Given the description of an element on the screen output the (x, y) to click on. 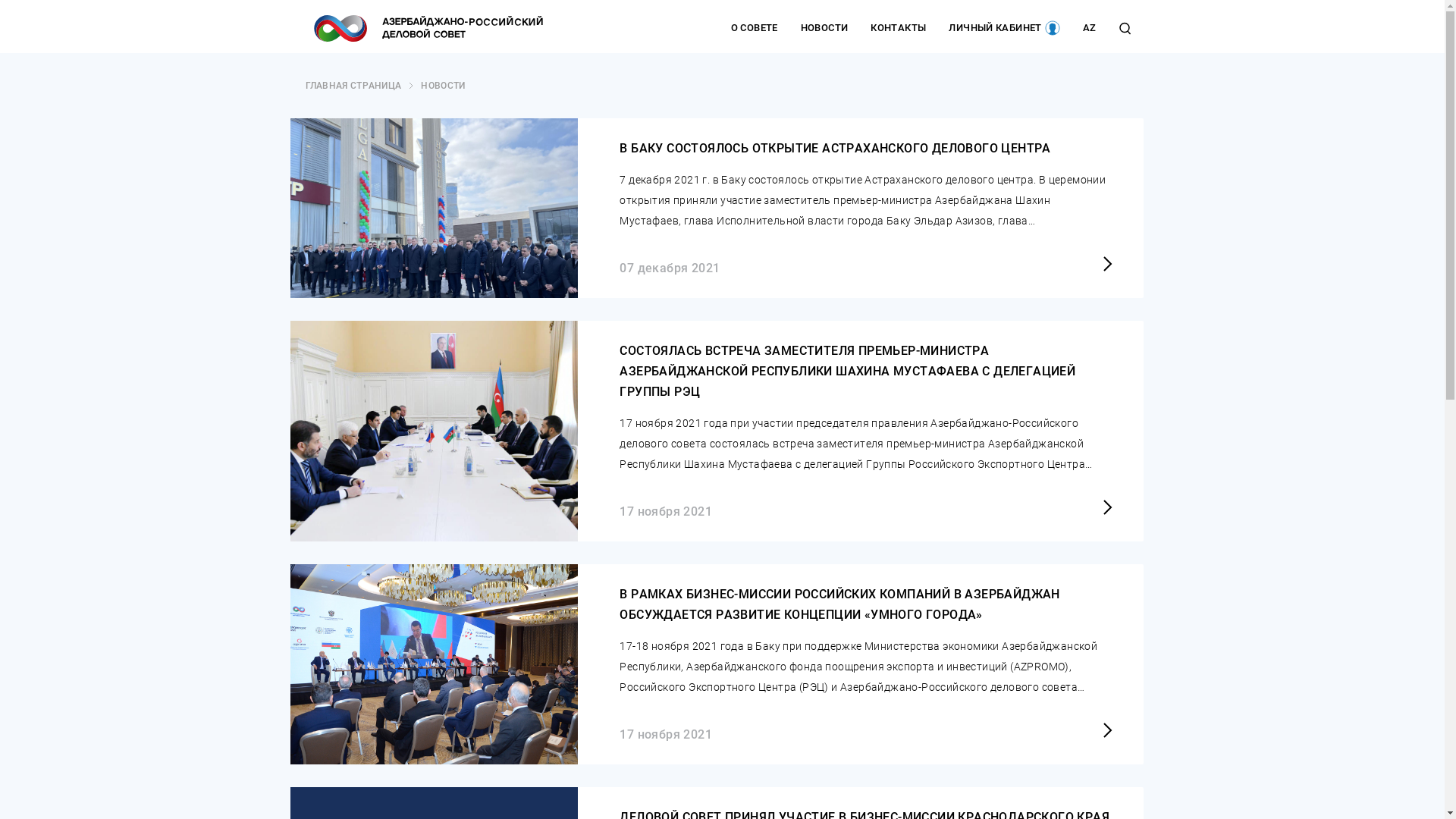
AZ Element type: text (1089, 27)
